Given the description of an element on the screen output the (x, y) to click on. 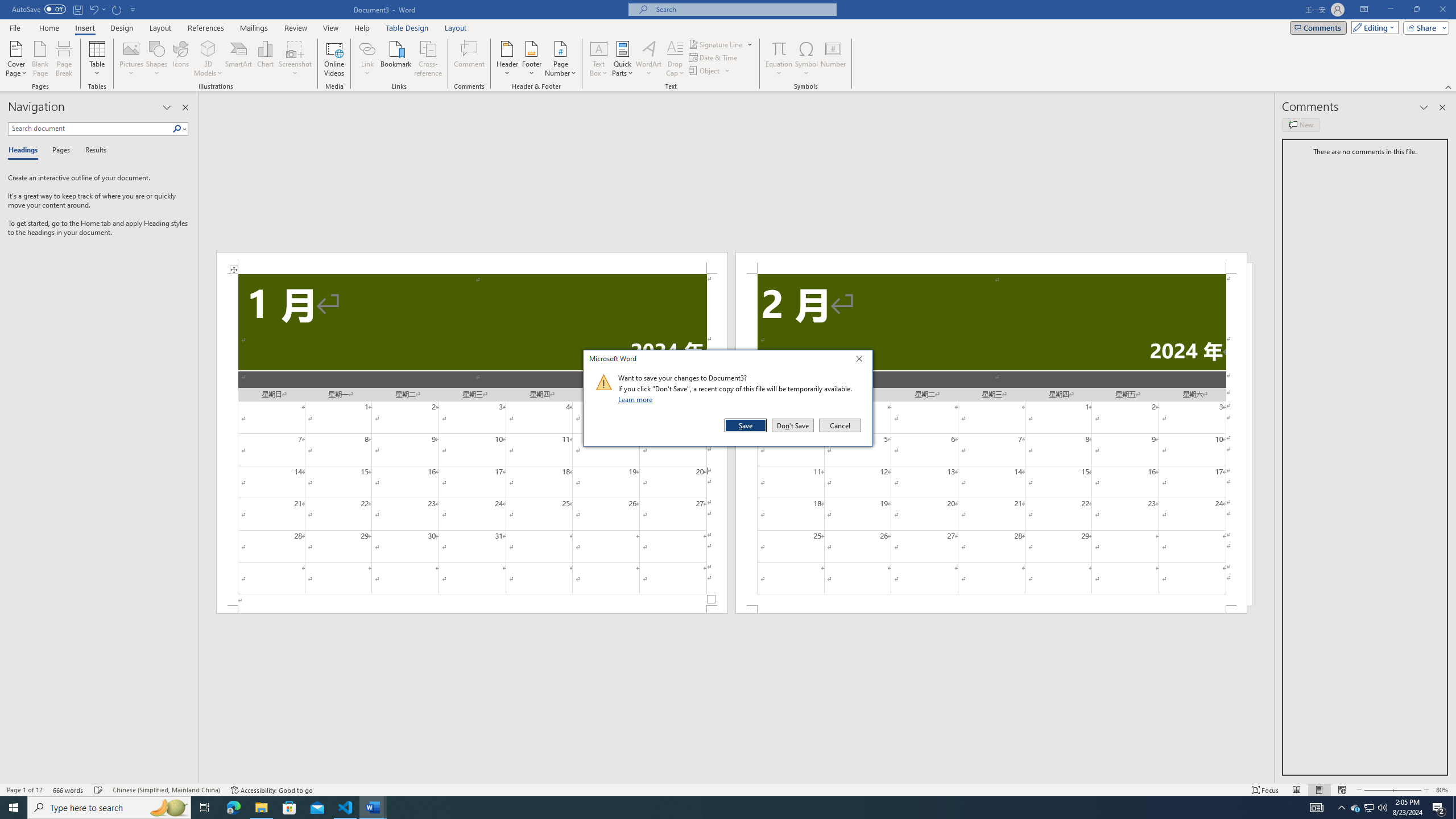
Type here to search (1368, 807)
View (108, 807)
Header -Section 1- (330, 28)
Link (471, 263)
Customize Quick Access Toolbar (367, 48)
Q2790: 100% (133, 9)
File Tab (1382, 807)
Zoom Out (15, 27)
Date & Time... (1375, 790)
